Given the description of an element on the screen output the (x, y) to click on. 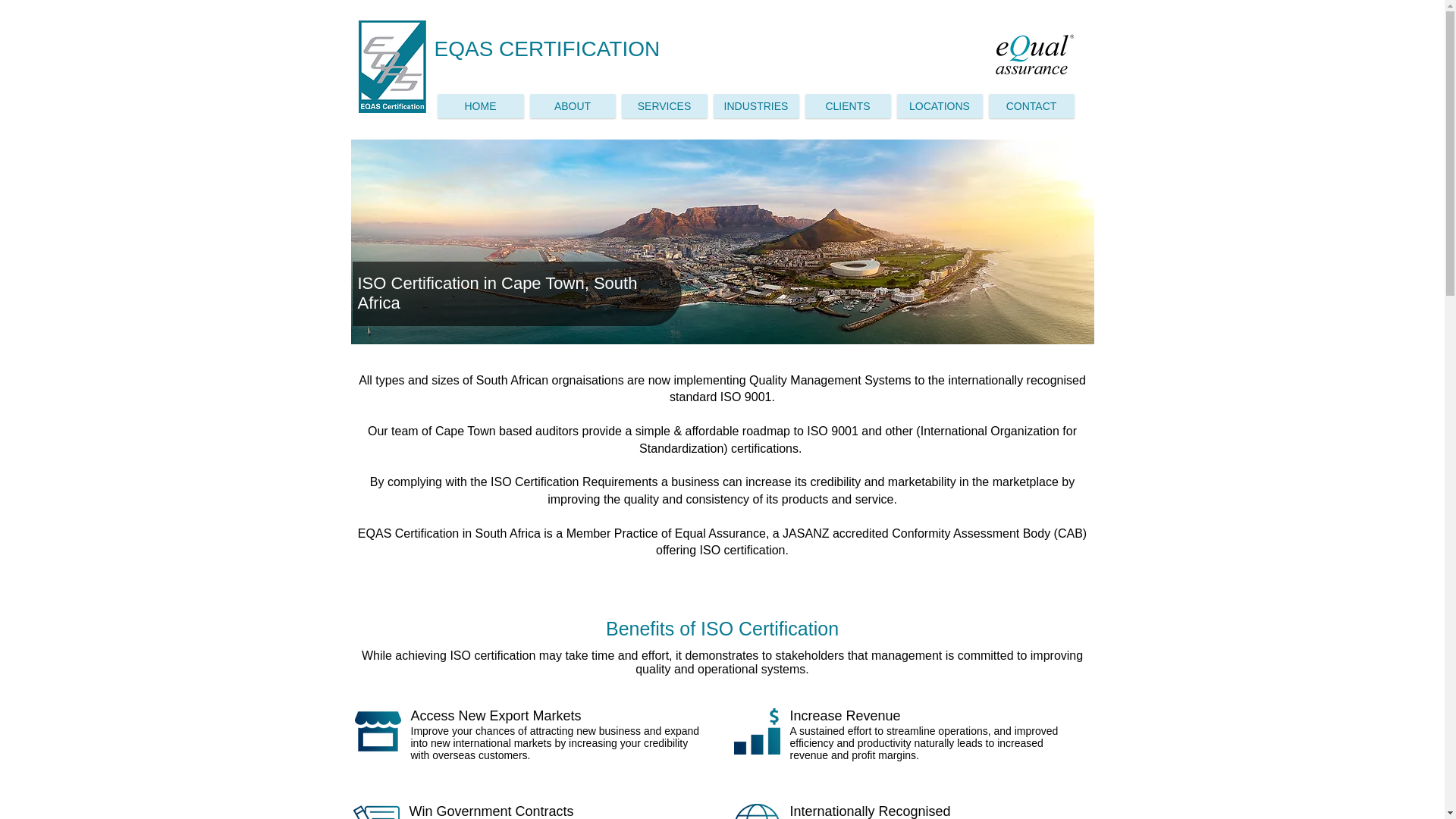
INDUSTRIES (755, 105)
HOME (479, 105)
CONTACT (1031, 105)
ABOUT (571, 105)
SERVICES (664, 105)
CLIENTS (848, 105)
